Given the description of an element on the screen output the (x, y) to click on. 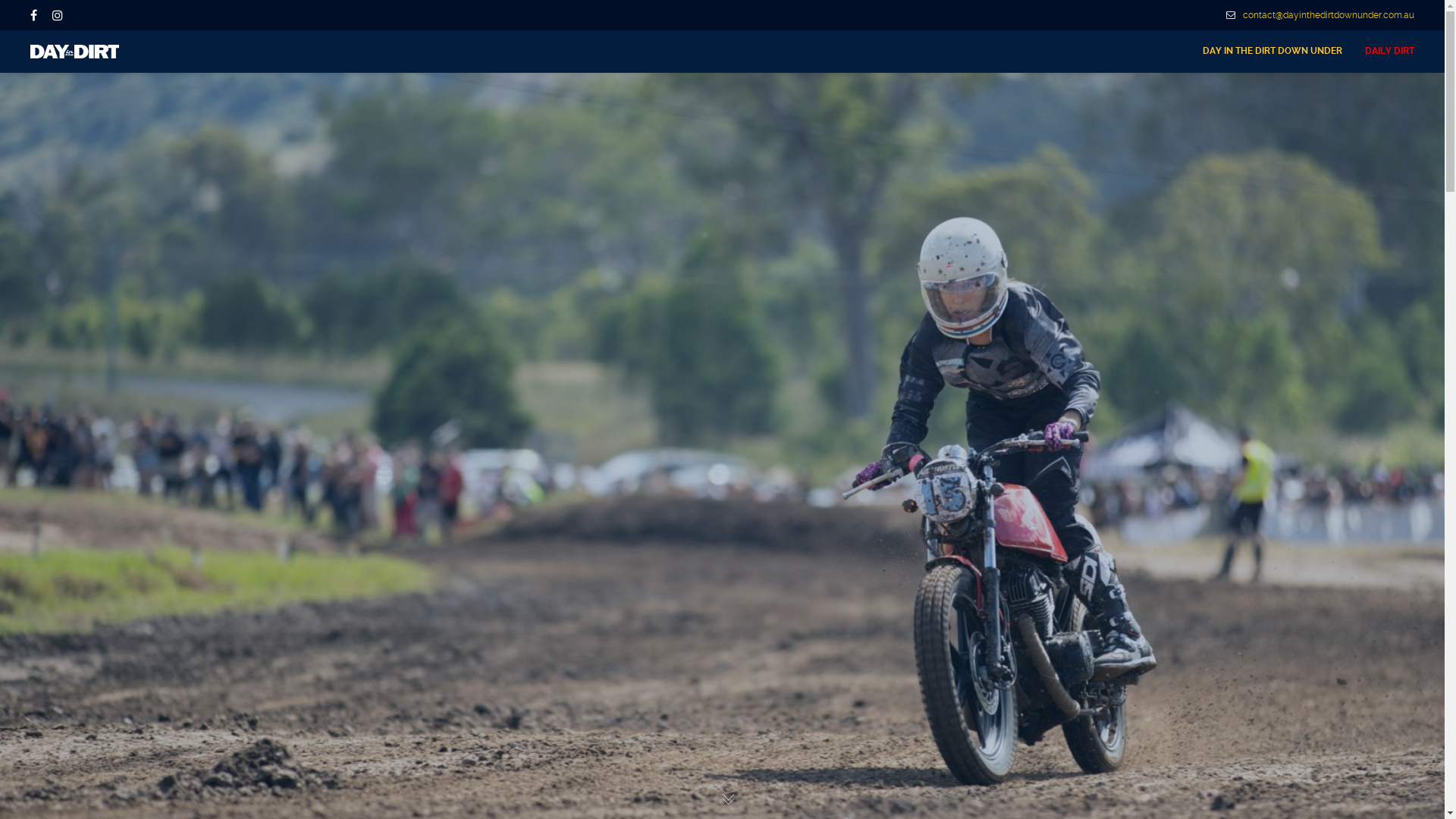
DAILY DIRT Element type: text (1383, 51)
DAY IN THE DIRT DOWN UNDER Element type: text (1272, 51)
contact@dayinthedirtdownunder.com.au Element type: text (1320, 15)
